Given the description of an element on the screen output the (x, y) to click on. 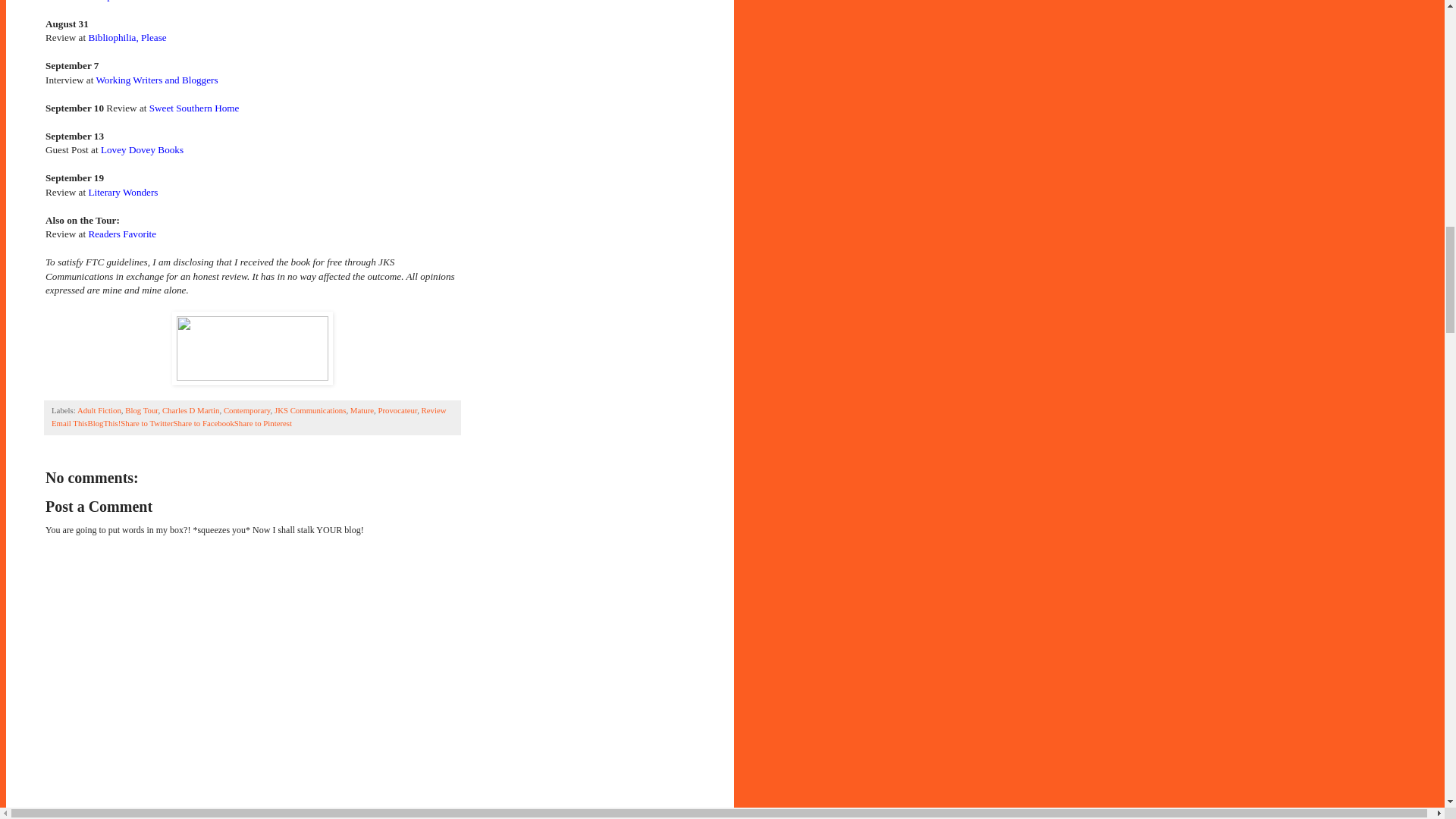
Literary Wonders (122, 192)
Share to Pinterest (263, 422)
Bibliophilia, Please (126, 37)
BlogThis! (103, 422)
Share to Twitter (146, 422)
Escape in Words (120, 0)
Sweet Southern Home (194, 107)
Readers Favorite (121, 233)
Share to Facebook (202, 422)
Working Writers and Bloggers (156, 79)
Email This (68, 422)
Lovey Dovey Books (141, 149)
